Given the description of an element on the screen output the (x, y) to click on. 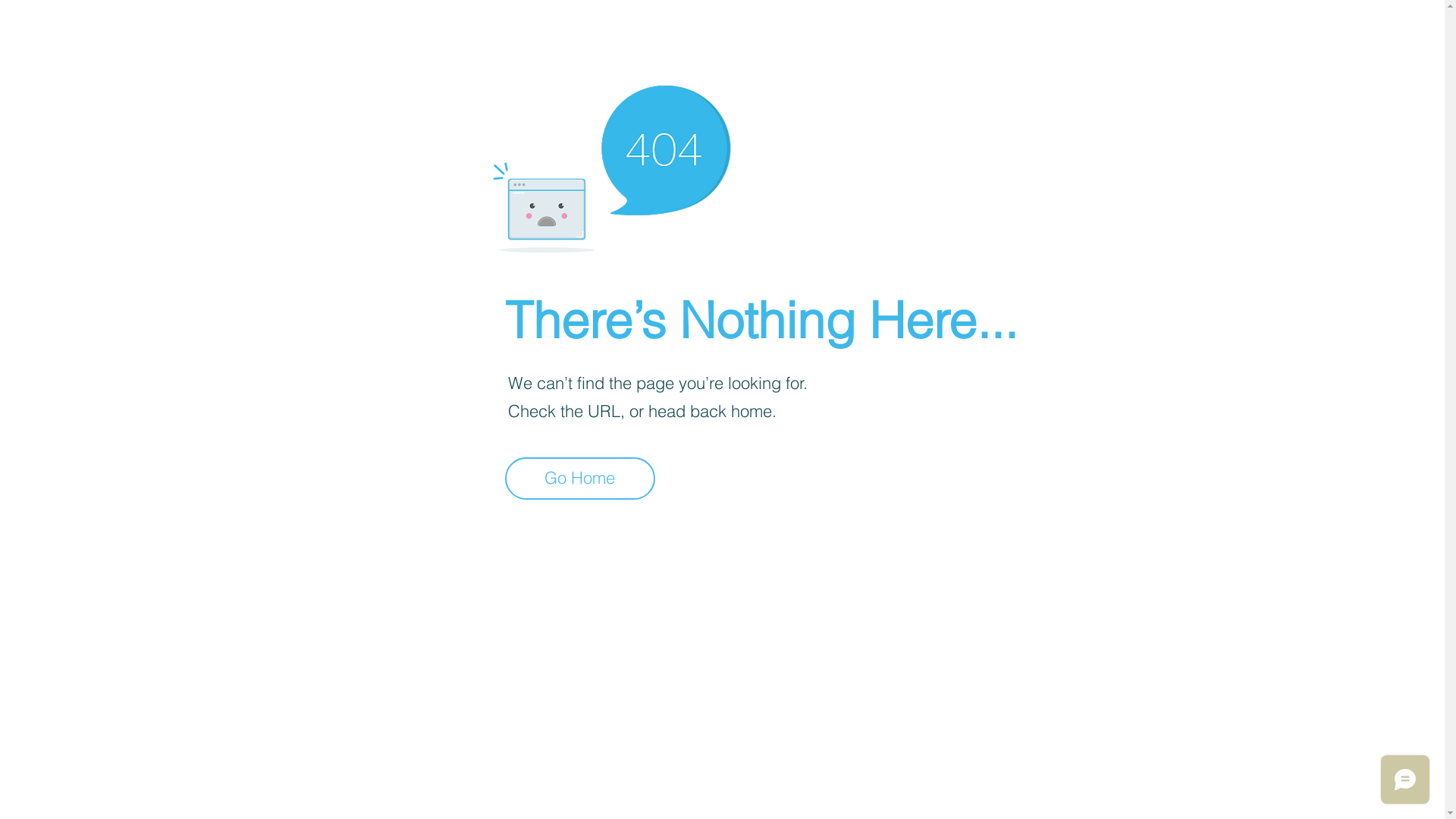
404-icon_2.png Element type: hover (610, 164)
Go Home Element type: text (580, 478)
